Given the description of an element on the screen output the (x, y) to click on. 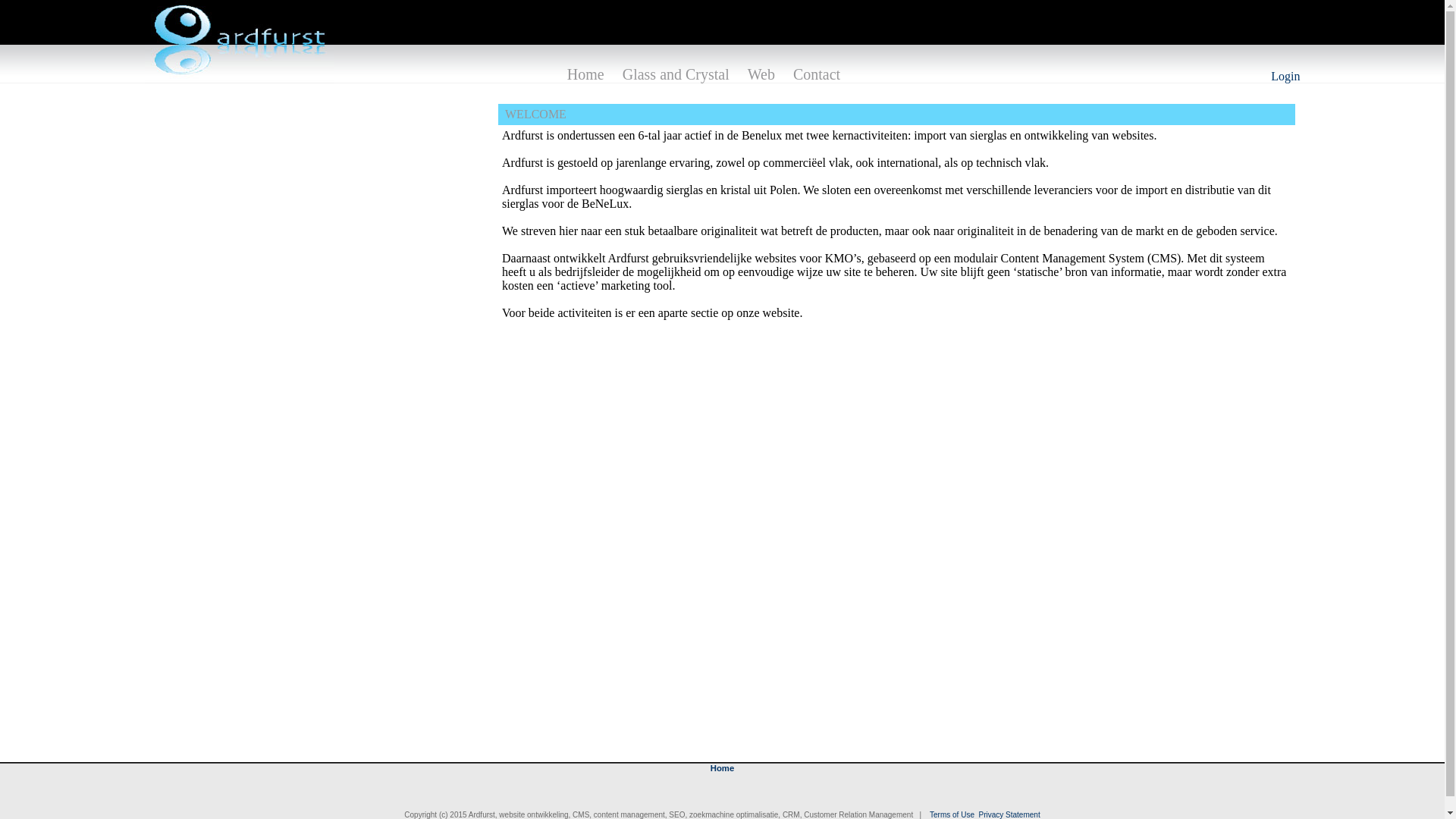
Home Element type: text (722, 767)
Login Element type: text (1284, 75)
